Given the description of an element on the screen output the (x, y) to click on. 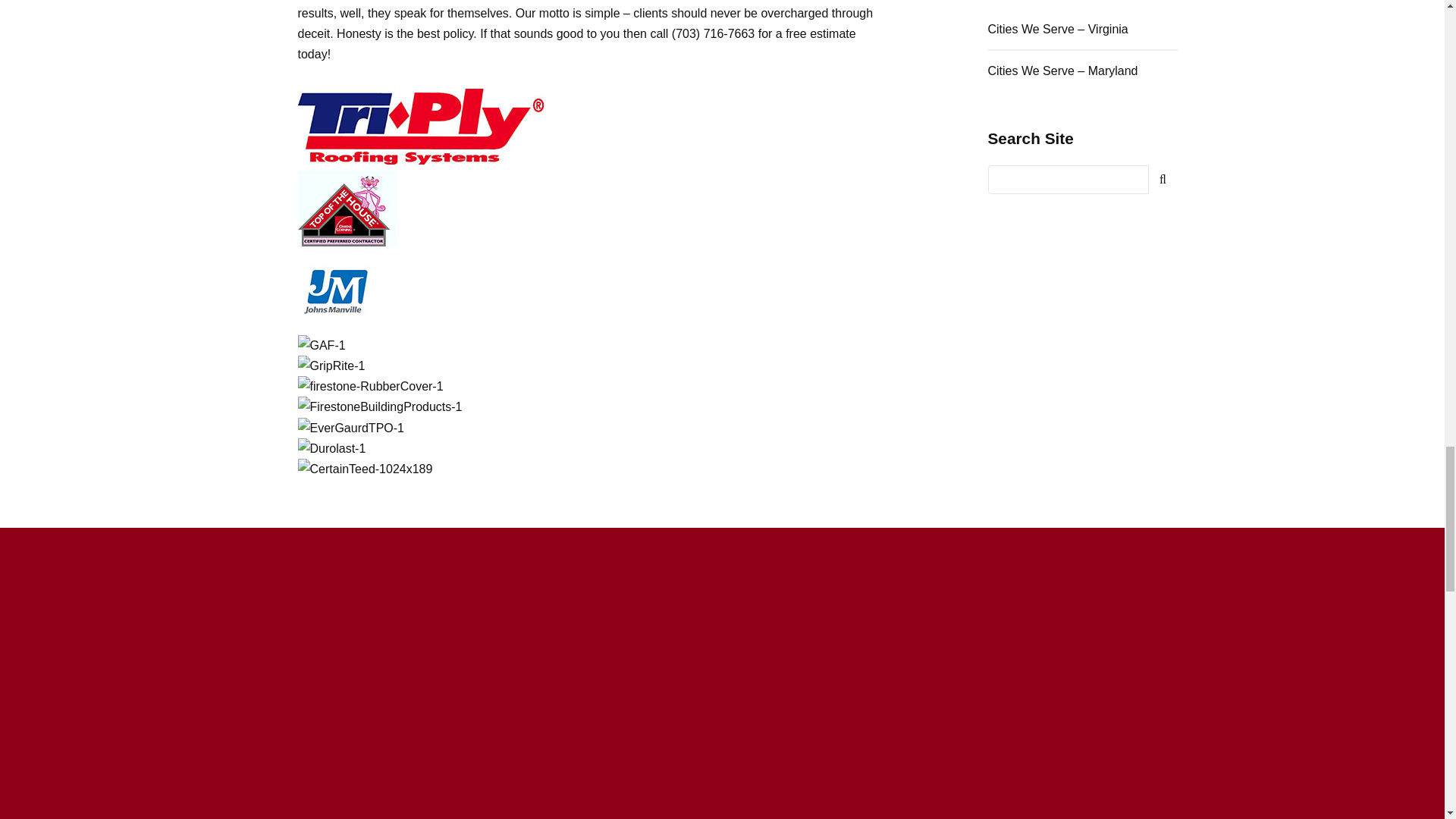
CertainTeed-1024x189 (364, 468)
Durolast-1 (331, 448)
TriPly-1 (420, 126)
GripRite-1 (331, 365)
firestone-RubberCover-1 (369, 385)
FirestoneBuildingProducts-1 (379, 406)
EverGaurdTPO-1 (350, 427)
GAF-1 (321, 344)
JohnsManville (334, 291)
OwensCorning-1 (345, 208)
